Given the description of an element on the screen output the (x, y) to click on. 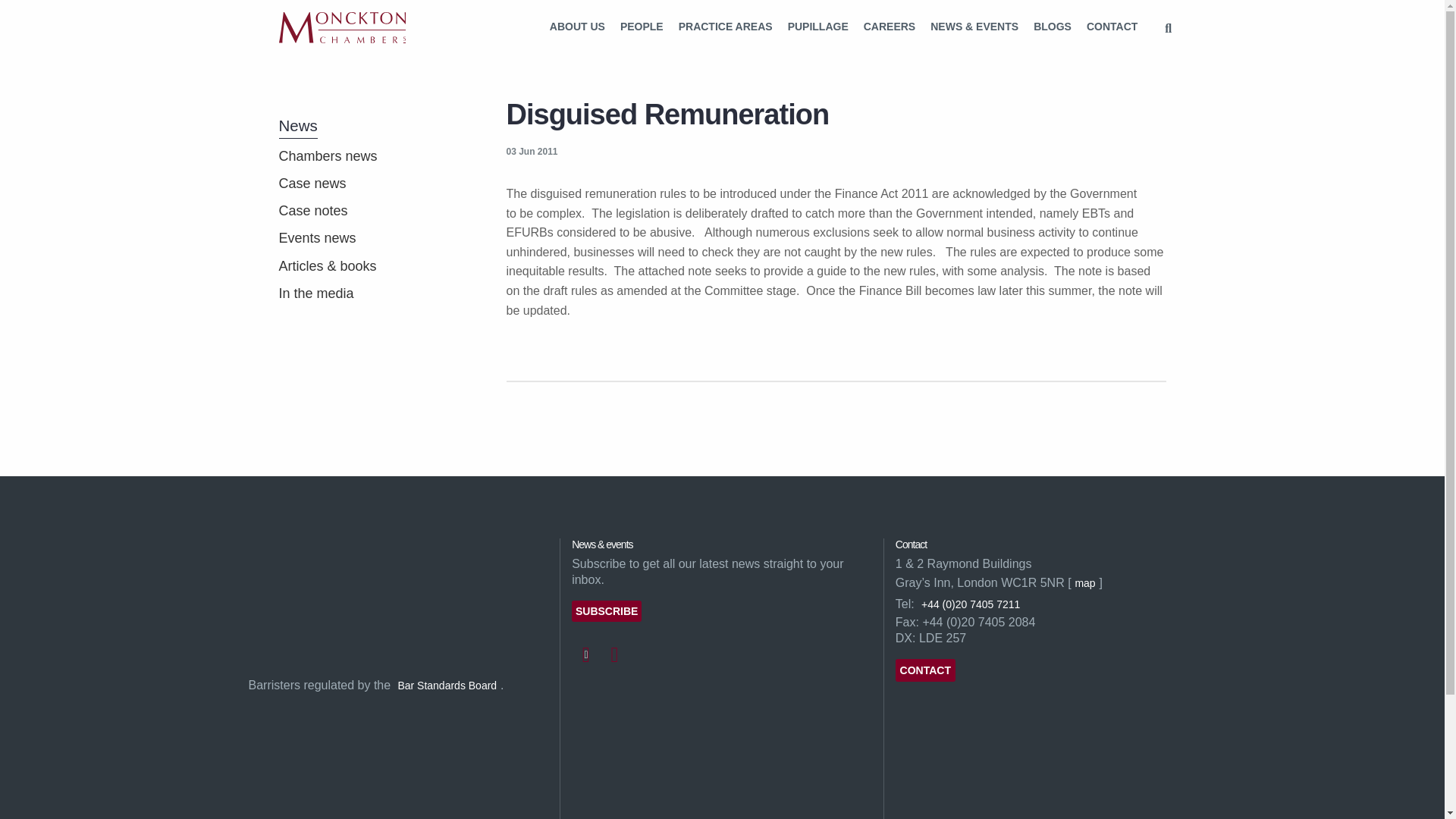
ABOUT US (576, 27)
PRACTICE AREAS (725, 27)
Monckton Chambers (342, 26)
PUPILLAGE (818, 27)
Search (1168, 28)
PEOPLE (641, 27)
